Given the description of an element on the screen output the (x, y) to click on. 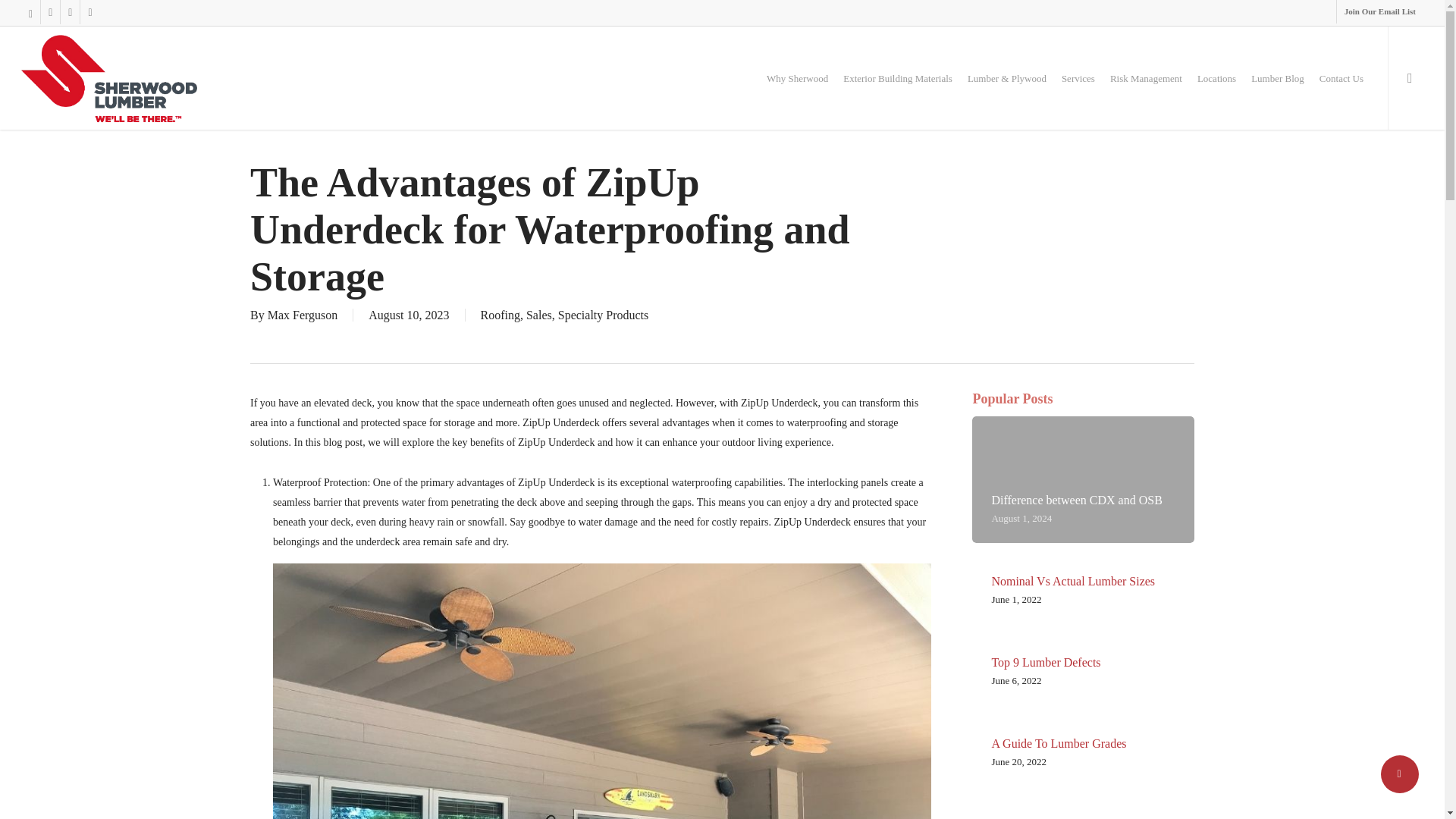
Exterior Building Materials (897, 77)
Join Our Email List (1379, 11)
Why Sherwood (797, 77)
Posts by Max Ferguson (302, 314)
